Given the description of an element on the screen output the (x, y) to click on. 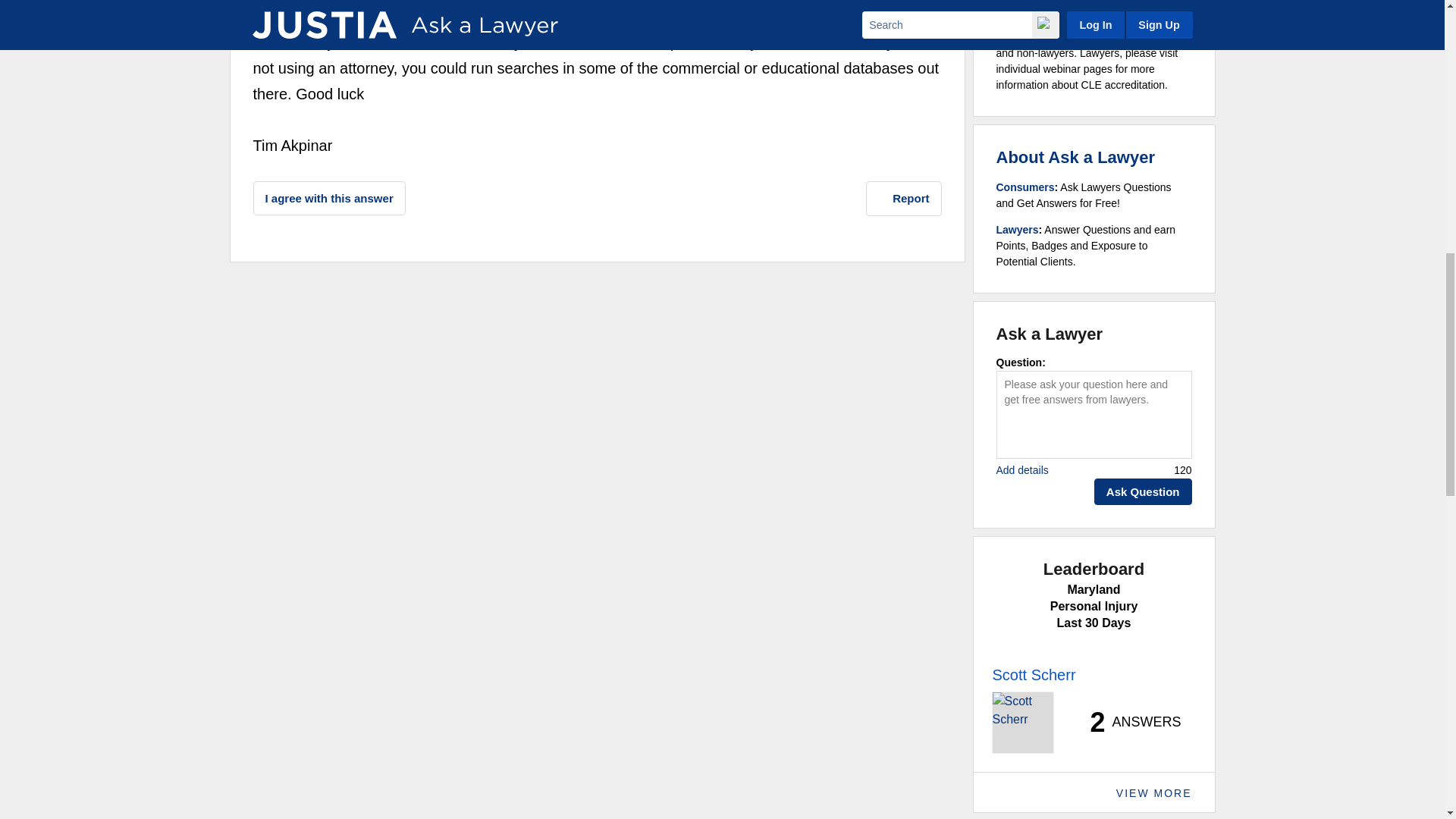
I agree with this answer (329, 197)
Ask a Lawyer - Leaderboard - Lawyer Stats (1127, 722)
Report (904, 198)
Ask a Lawyer - Leaderboard - Lawyer Photo (1021, 722)
Ask a Lawyer - FAQs - Lawyers (1017, 229)
Ask a Lawyer - FAQs - Consumers (1024, 186)
Ask a Lawyer - Leaderboard - Lawyer Name (1033, 674)
